Given the description of an element on the screen output the (x, y) to click on. 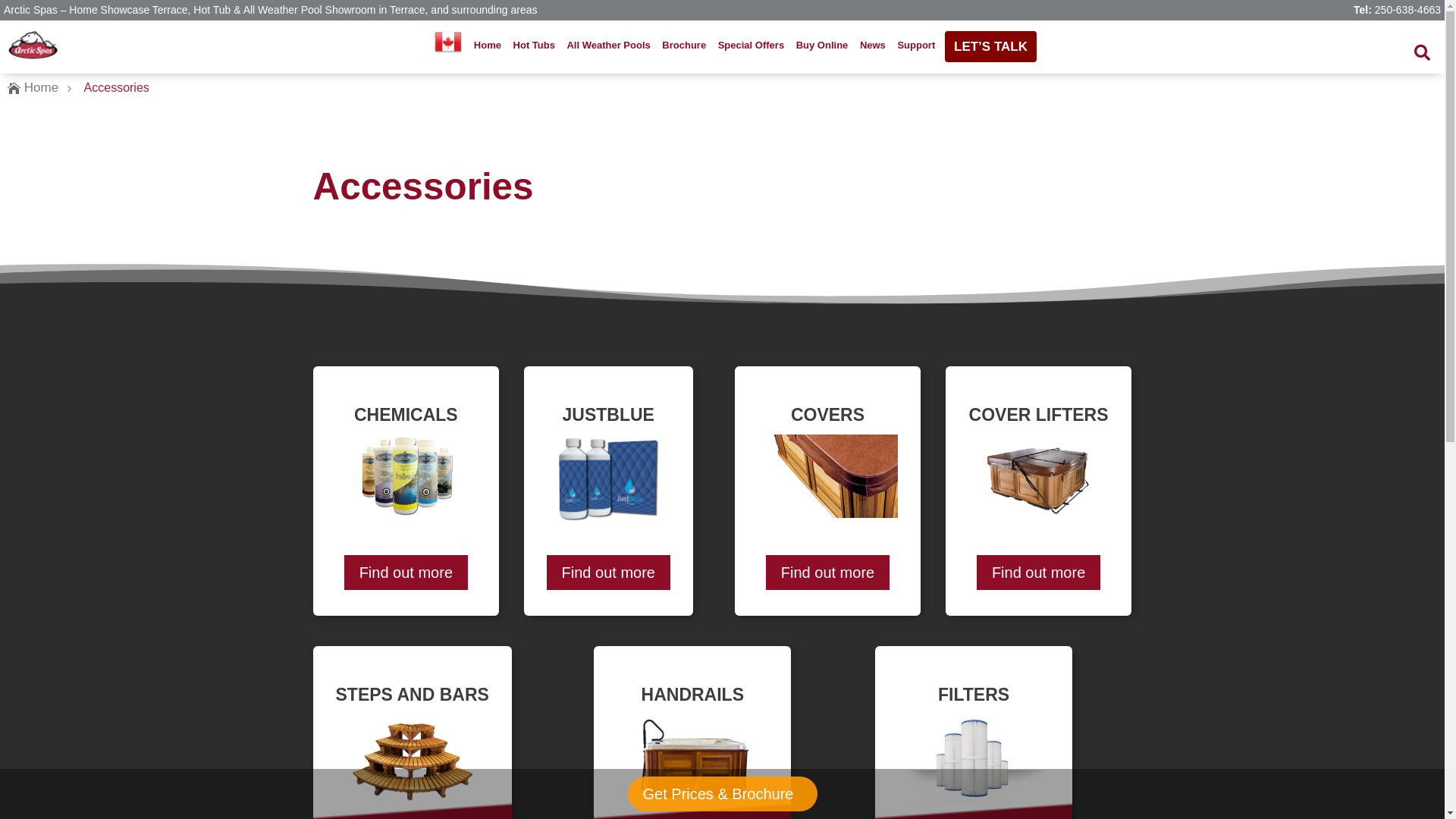
Support Element type: text (915, 45)
Brochure Element type: text (683, 45)
250-638-4663 Element type: text (1407, 9)
Get Prices & Brochure Element type: text (721, 793)
News Element type: text (872, 45)
Home Element type: text (487, 45)
Choose Your Location Element type: hover (447, 45)
Home Element type: text (41, 87)
Hot Tubs Element type: text (533, 45)
Find out more Element type: text (608, 572)
Special Offers Element type: text (751, 45)
Find out more Element type: text (405, 572)
Find out more Element type: text (1038, 572)
Find out more Element type: text (827, 572)
All Weather Pools Element type: text (608, 45)
Buy Online Element type: text (821, 45)
Choose Your Location Element type: hover (447, 41)
